Given the description of an element on the screen output the (x, y) to click on. 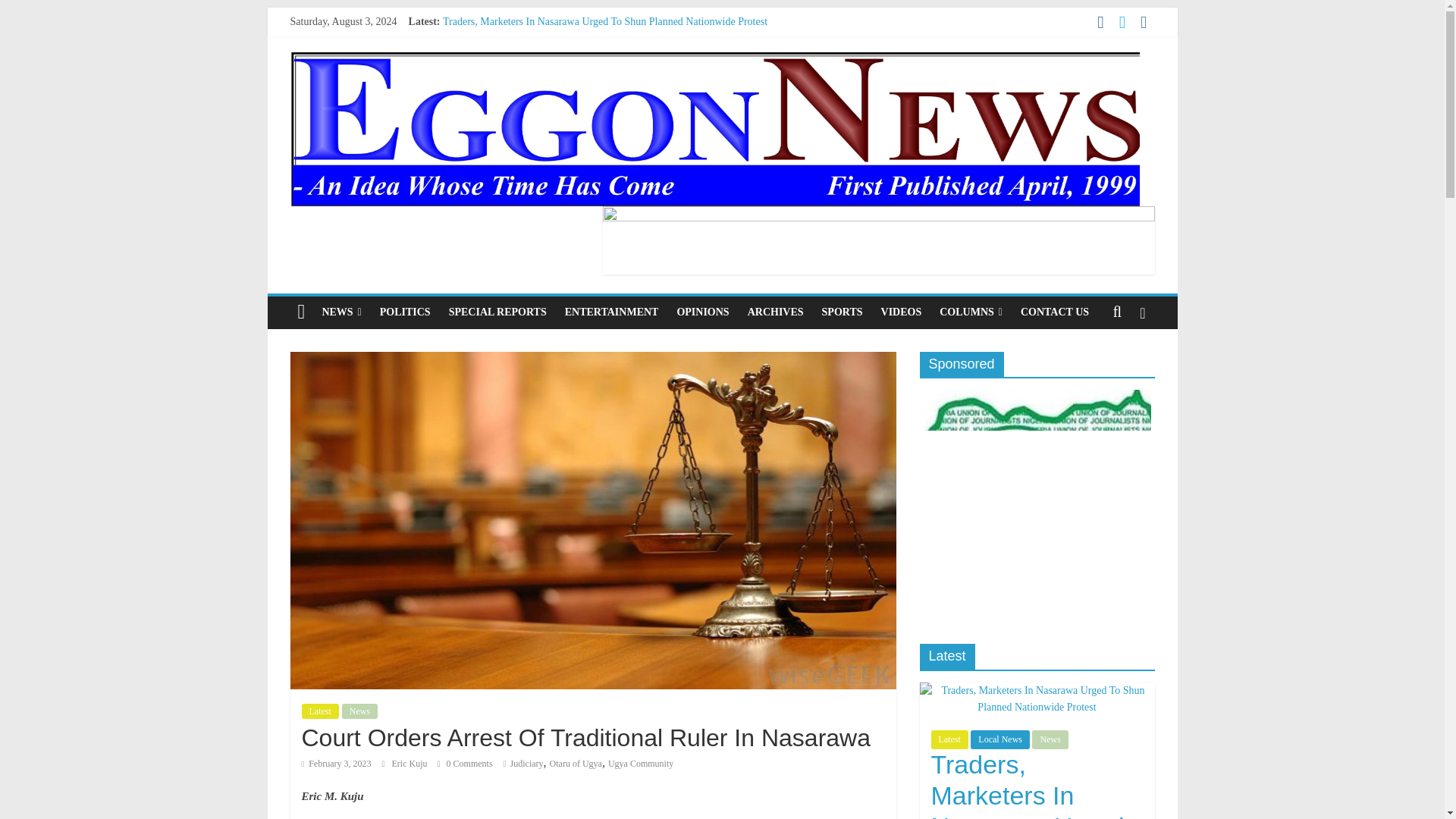
February 3, 2023 (336, 763)
0 Comments (465, 763)
COLUMNS (970, 312)
News (359, 711)
SPORTS (842, 312)
Otaru of Ugya (576, 763)
Judiciary (527, 763)
SPECIAL REPORTS (497, 312)
Nasarawa State YOWICAN Get New Leadership (547, 55)
OPINIONS (702, 312)
NEWS (341, 312)
